Given the description of an element on the screen output the (x, y) to click on. 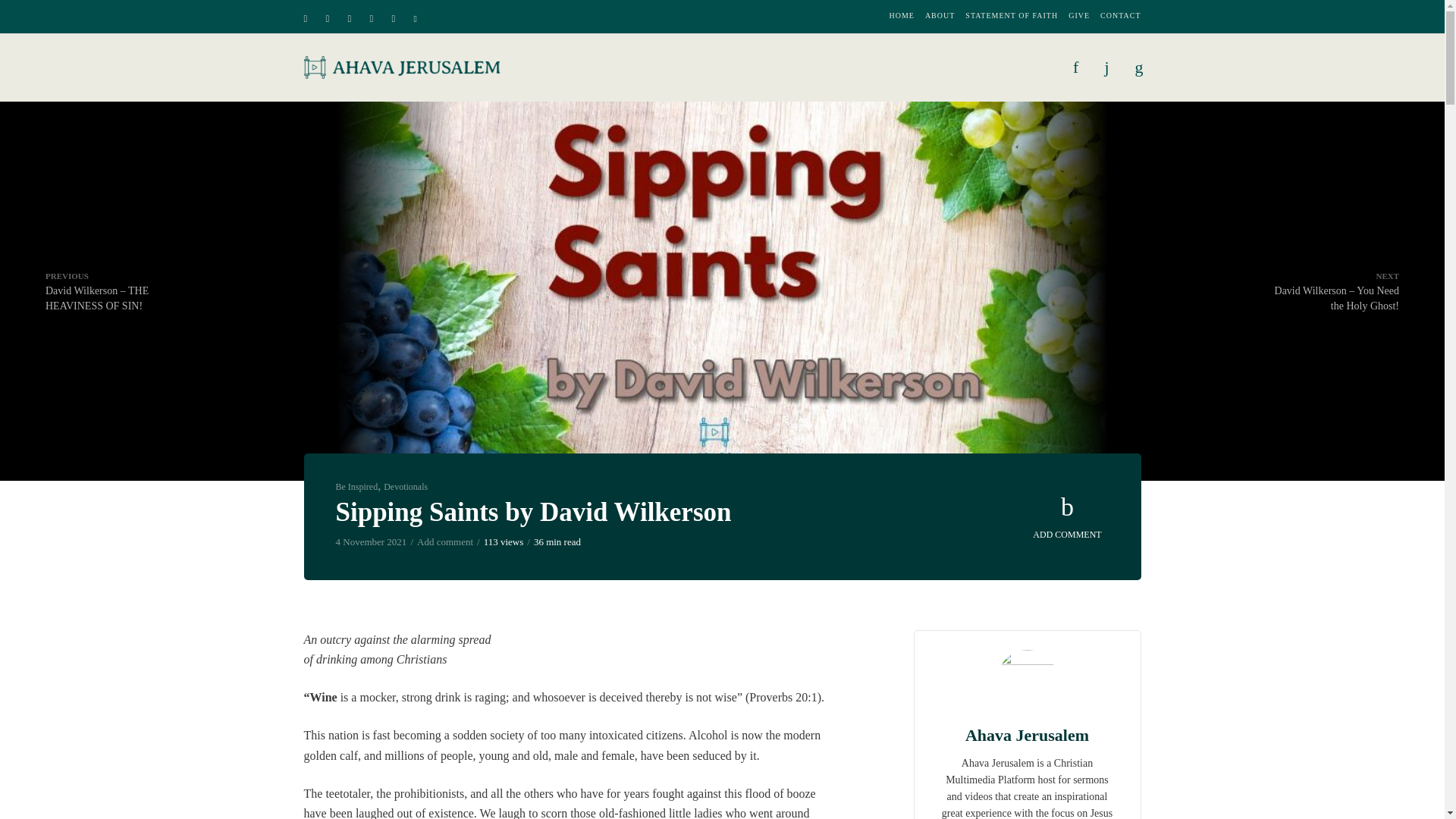
STATEMENT OF FAITH (1011, 15)
CONTACT (1120, 15)
ABOUT (939, 15)
